Given the description of an element on the screen output the (x, y) to click on. 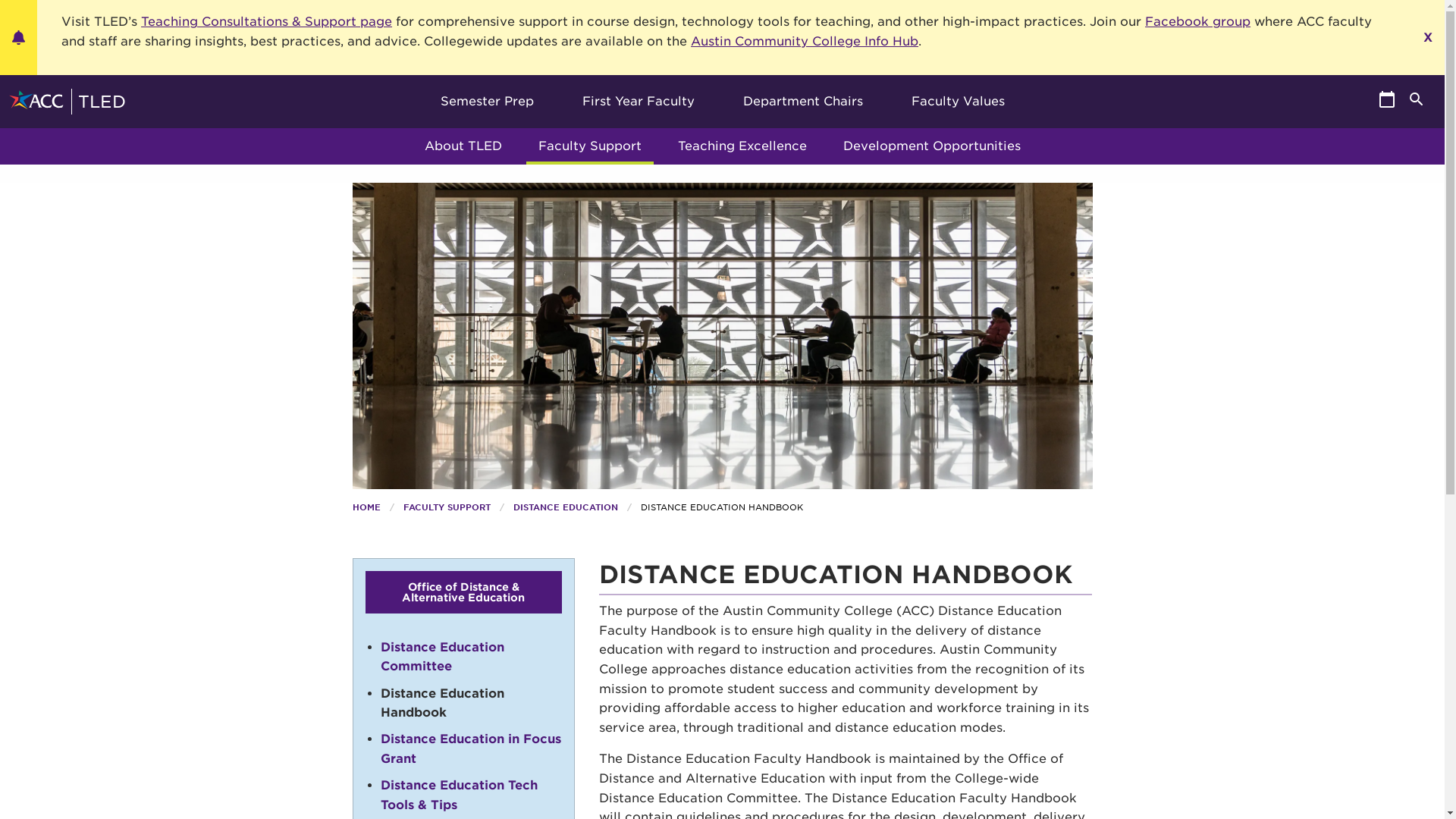
Facebook group (1197, 21)
ACC Home Link (37, 101)
Austin Community College Info Hub (804, 41)
